Given the description of an element on the screen output the (x, y) to click on. 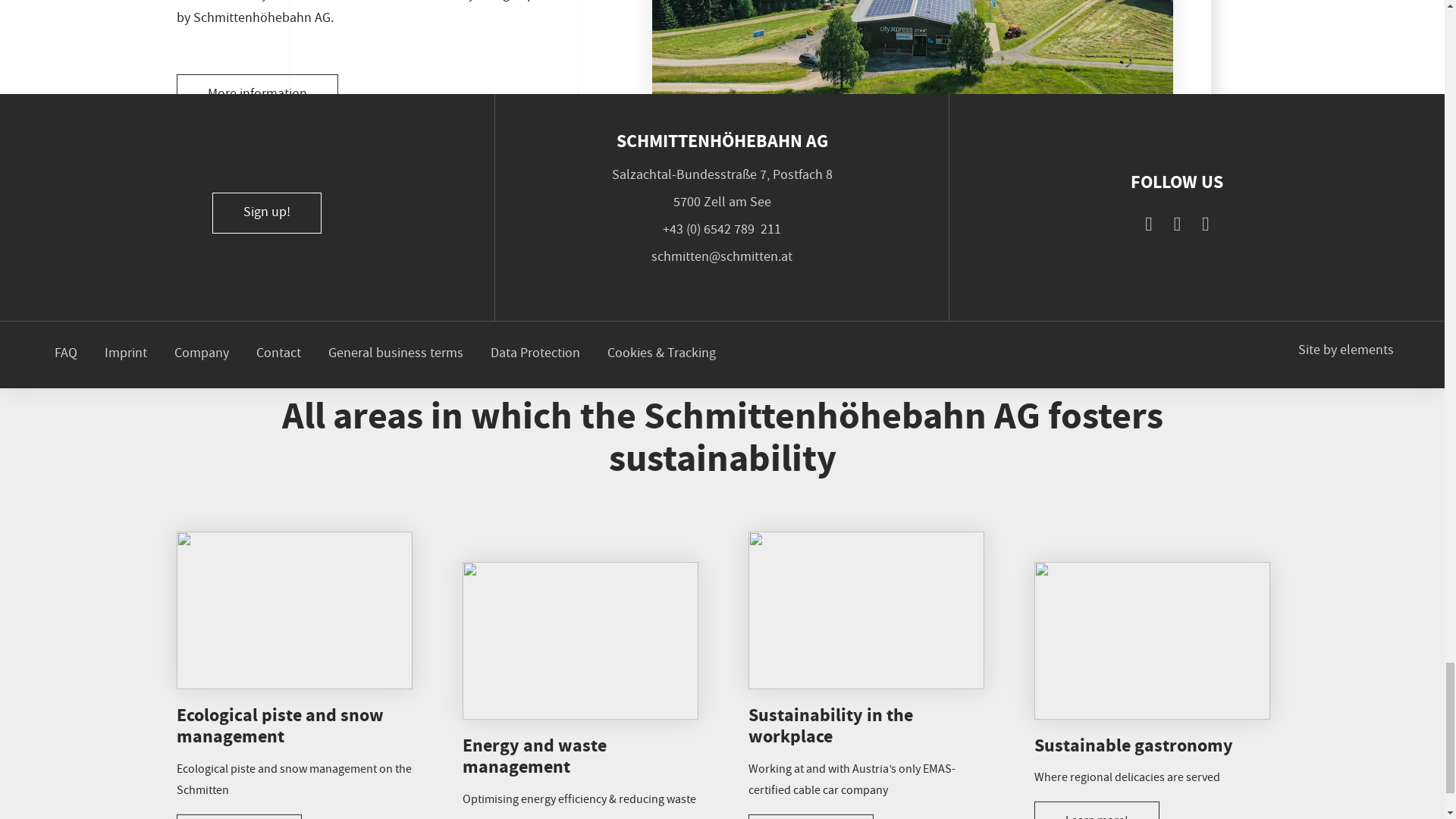
Learn more! (810, 816)
Sustainability in the workplace (830, 725)
Learn more! (1095, 810)
Energy and waste management (535, 756)
More information (256, 94)
Sign up! (266, 212)
Ecological piste and snow management (279, 725)
Sustainable gastronomy (1133, 745)
Learn more! (238, 816)
